Given the description of an element on the screen output the (x, y) to click on. 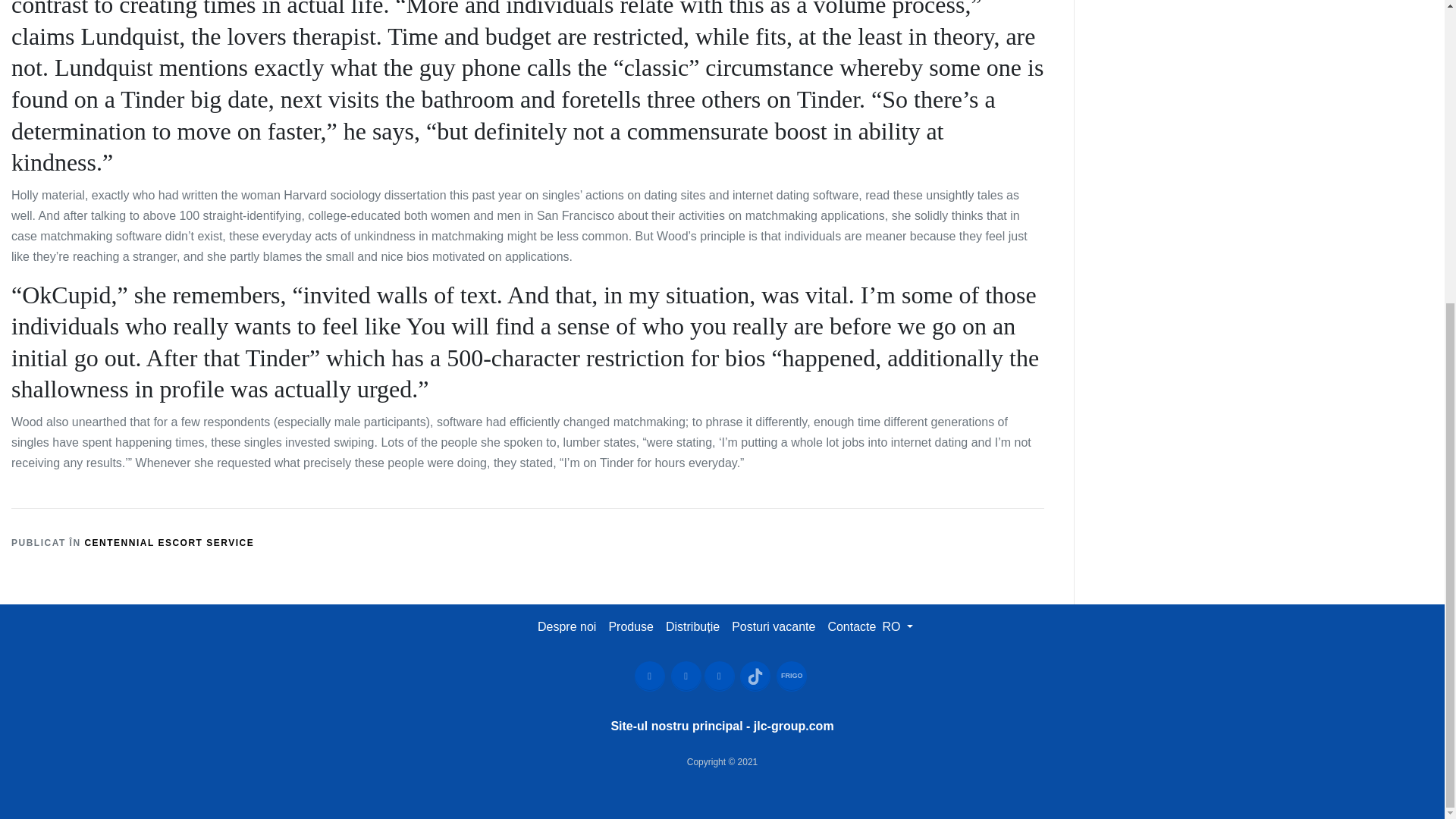
Posturi vacante (773, 626)
FRIGO (791, 675)
Contacte (851, 626)
Despre noi (566, 626)
Despre noi (566, 626)
Posturi vacante (773, 626)
Produse (630, 626)
Produse (630, 626)
Contacte (851, 626)
jlc-group.com (794, 725)
